Given the description of an element on the screen output the (x, y) to click on. 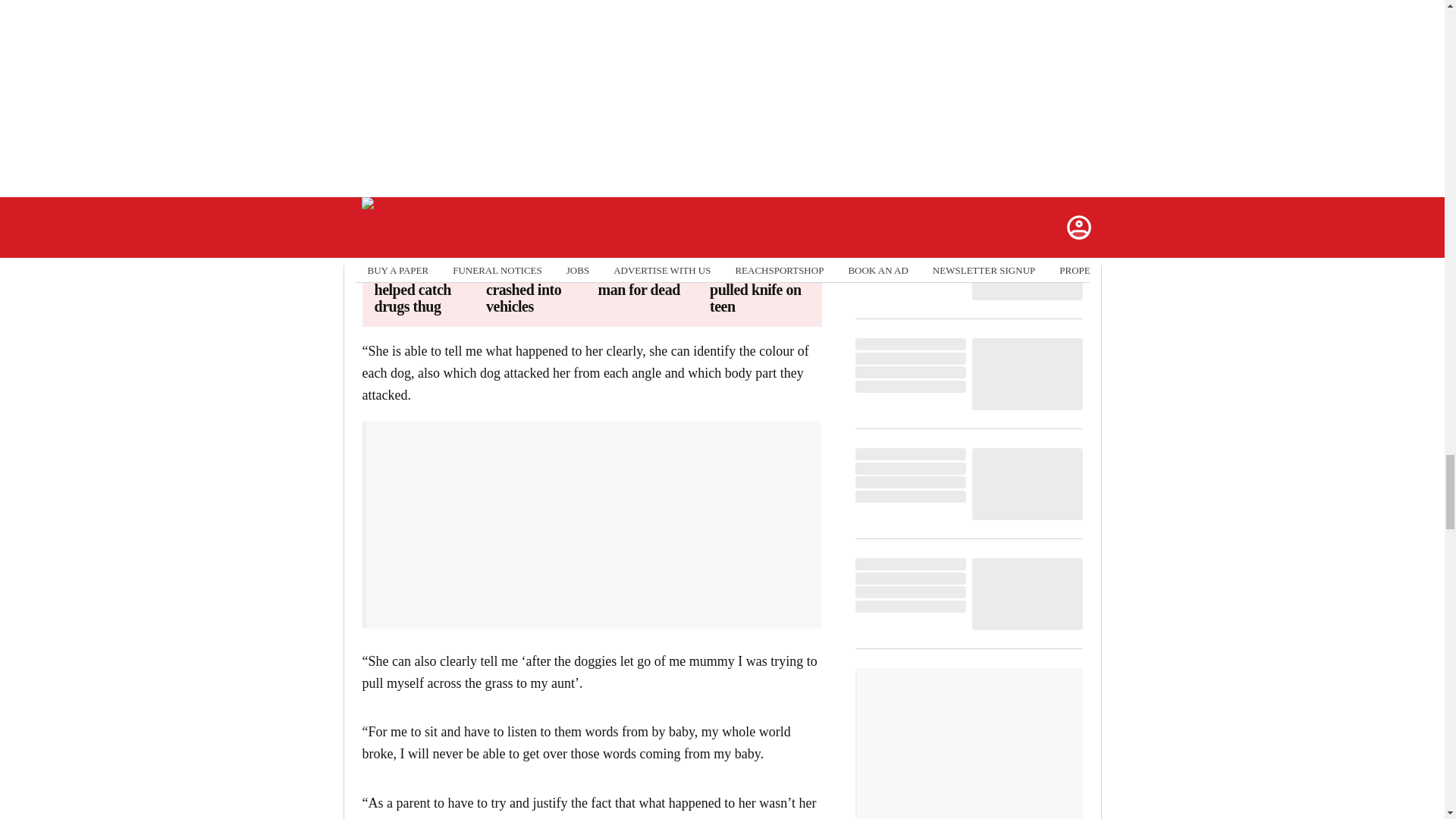
Picture that helped catch drugs thug (424, 289)
Drunk OAP crashed into vehicles (536, 289)
12-year-old pulled knife on teen (759, 289)
Knife thug left man for dead (646, 281)
